Given the description of an element on the screen output the (x, y) to click on. 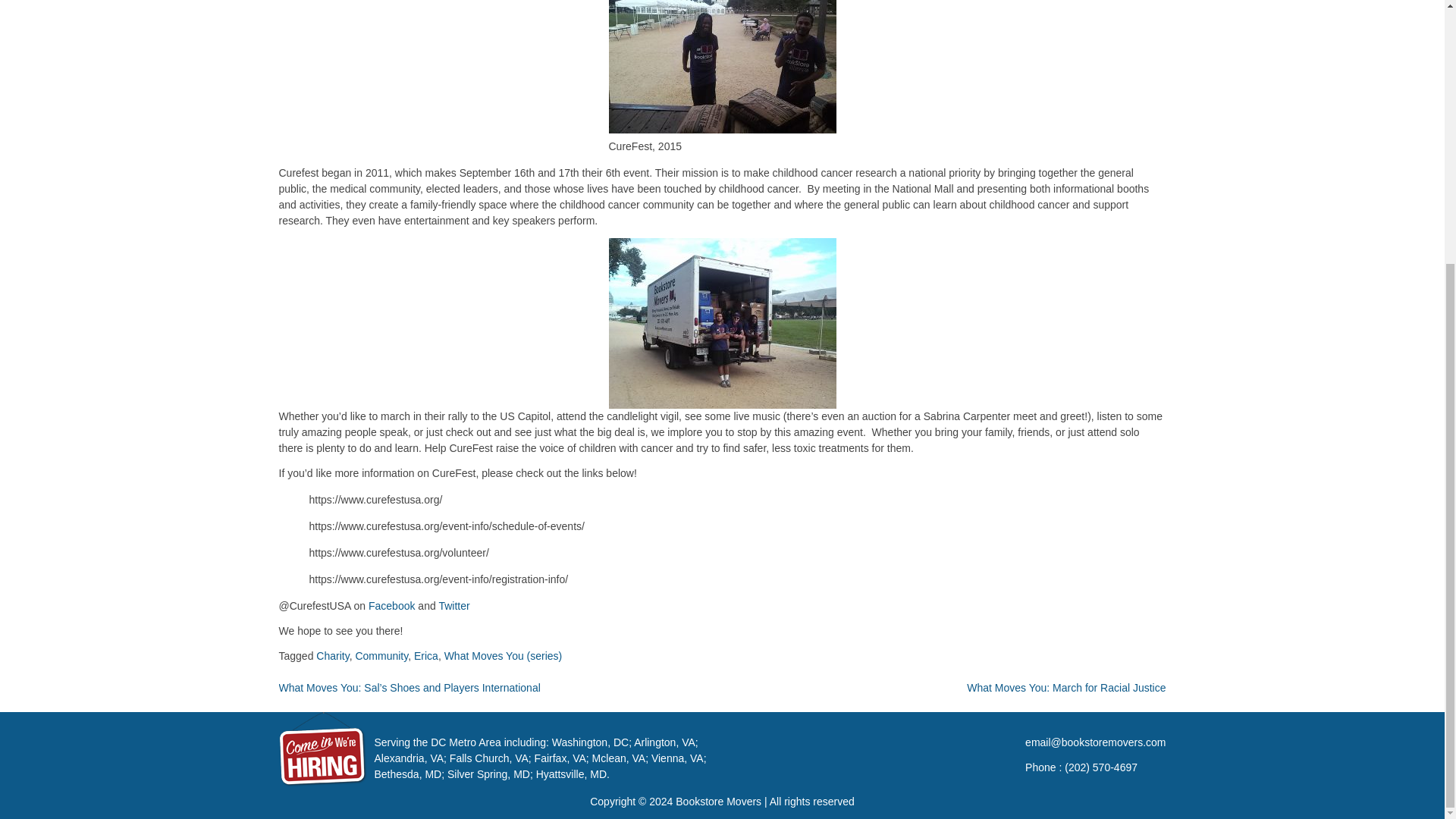
Twitter (453, 605)
Erica (425, 655)
Facebook (391, 605)
Community (381, 655)
Charity (332, 655)
